Given the description of an element on the screen output the (x, y) to click on. 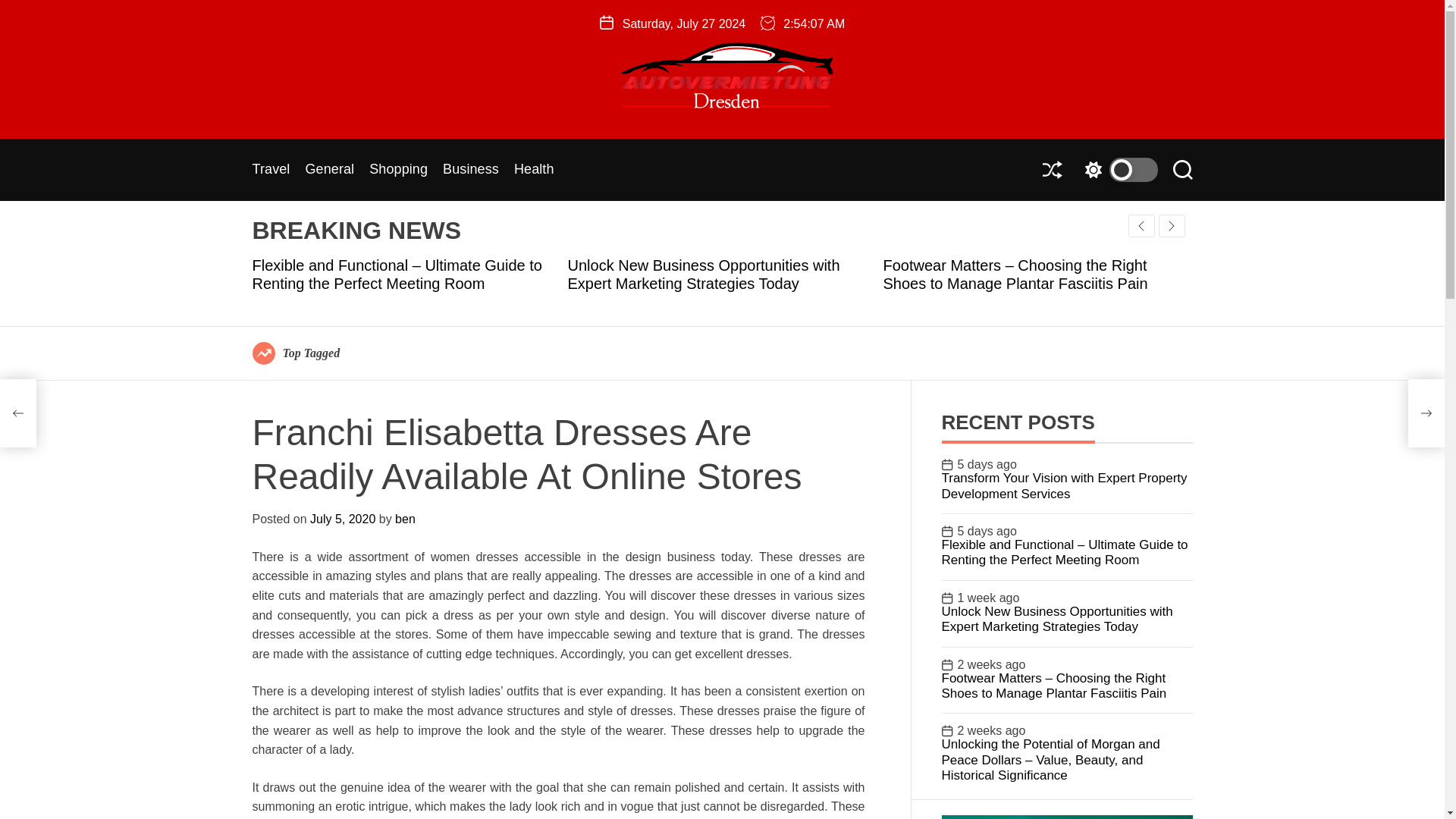
ben (404, 518)
July 5, 2020 (342, 518)
Health (533, 169)
Business (470, 169)
Shopping (398, 169)
Switch color mode (1117, 169)
General (328, 169)
Travel (270, 169)
